Given the description of an element on the screen output the (x, y) to click on. 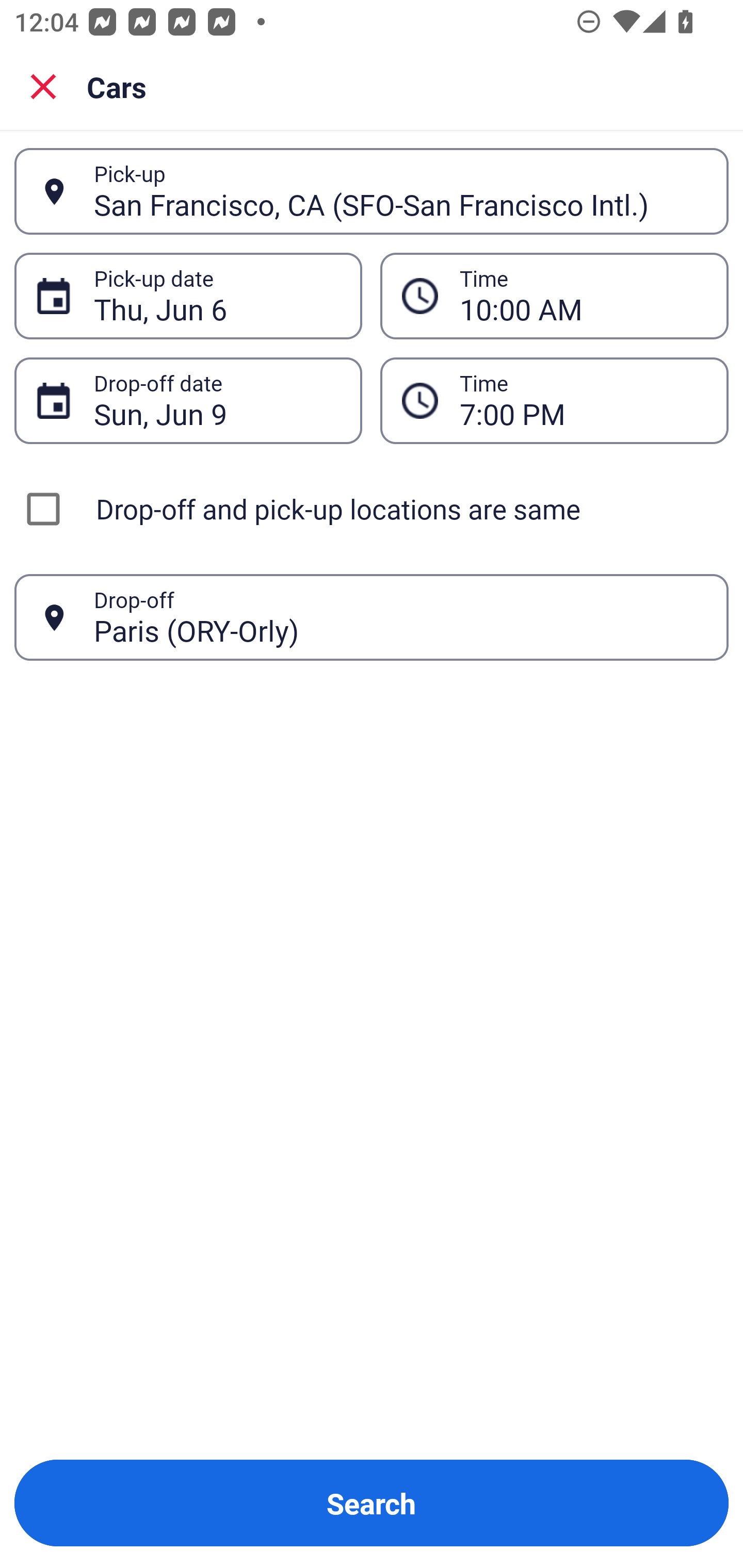
Close search screen (43, 86)
San Francisco, CA (SFO-San Francisco Intl.) (399, 191)
Thu, Jun 6 Pick-up date (188, 295)
10:00 AM (554, 295)
Thu, Jun 6 (216, 296)
10:00 AM (582, 296)
Sun, Jun 9 Drop-off date (188, 400)
7:00 PM (554, 400)
Sun, Jun 9 (216, 400)
7:00 PM (582, 400)
Drop-off and pick-up locations are same (371, 508)
Paris (ORY-Orly) Drop-off (371, 616)
Paris (ORY-Orly) (399, 616)
Search Button Search (371, 1502)
